Given the description of an element on the screen output the (x, y) to click on. 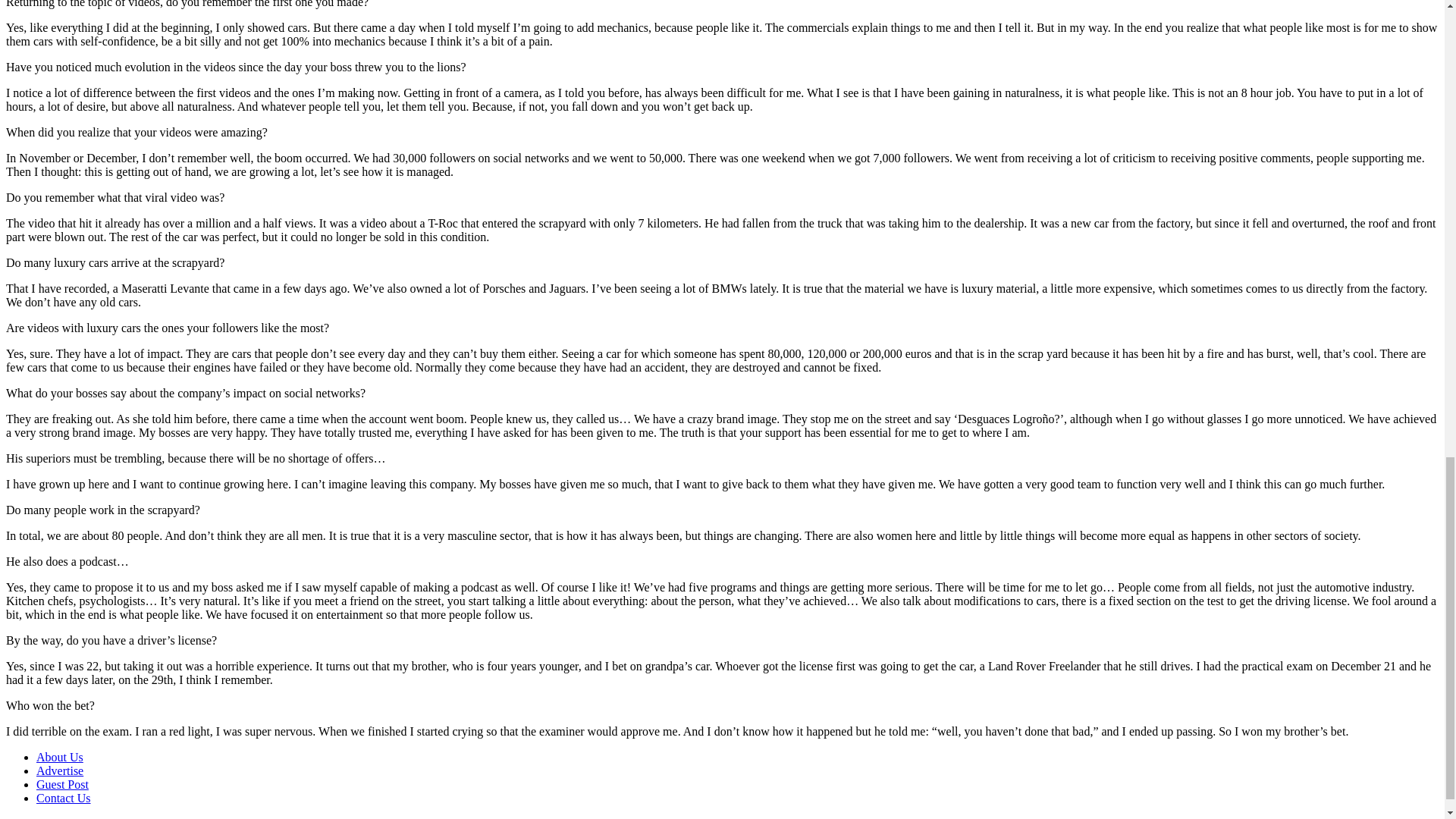
Guest Post (62, 784)
Contact Us (63, 797)
About Us (59, 757)
Advertise (59, 770)
